Given the description of an element on the screen output the (x, y) to click on. 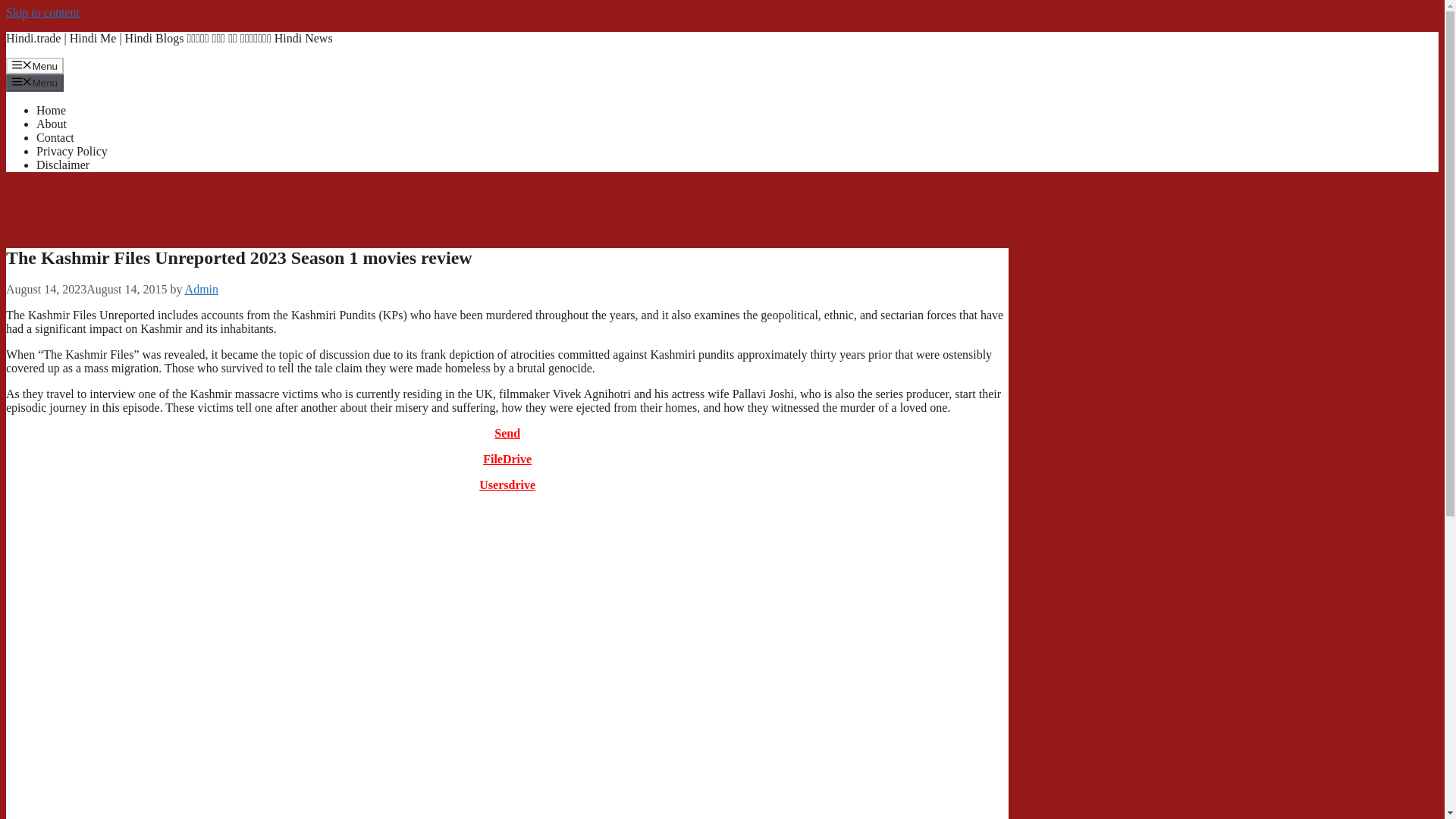
Contact (55, 137)
Send (507, 432)
Skip to content (42, 11)
Home (50, 110)
Menu (34, 65)
View all posts by Admin (201, 288)
About (51, 123)
Skip to content (42, 11)
Menu (34, 82)
Usersdrive (507, 484)
Admin (201, 288)
FileDrive (507, 459)
Disclaimer (62, 164)
Privacy Policy (71, 151)
